Given the description of an element on the screen output the (x, y) to click on. 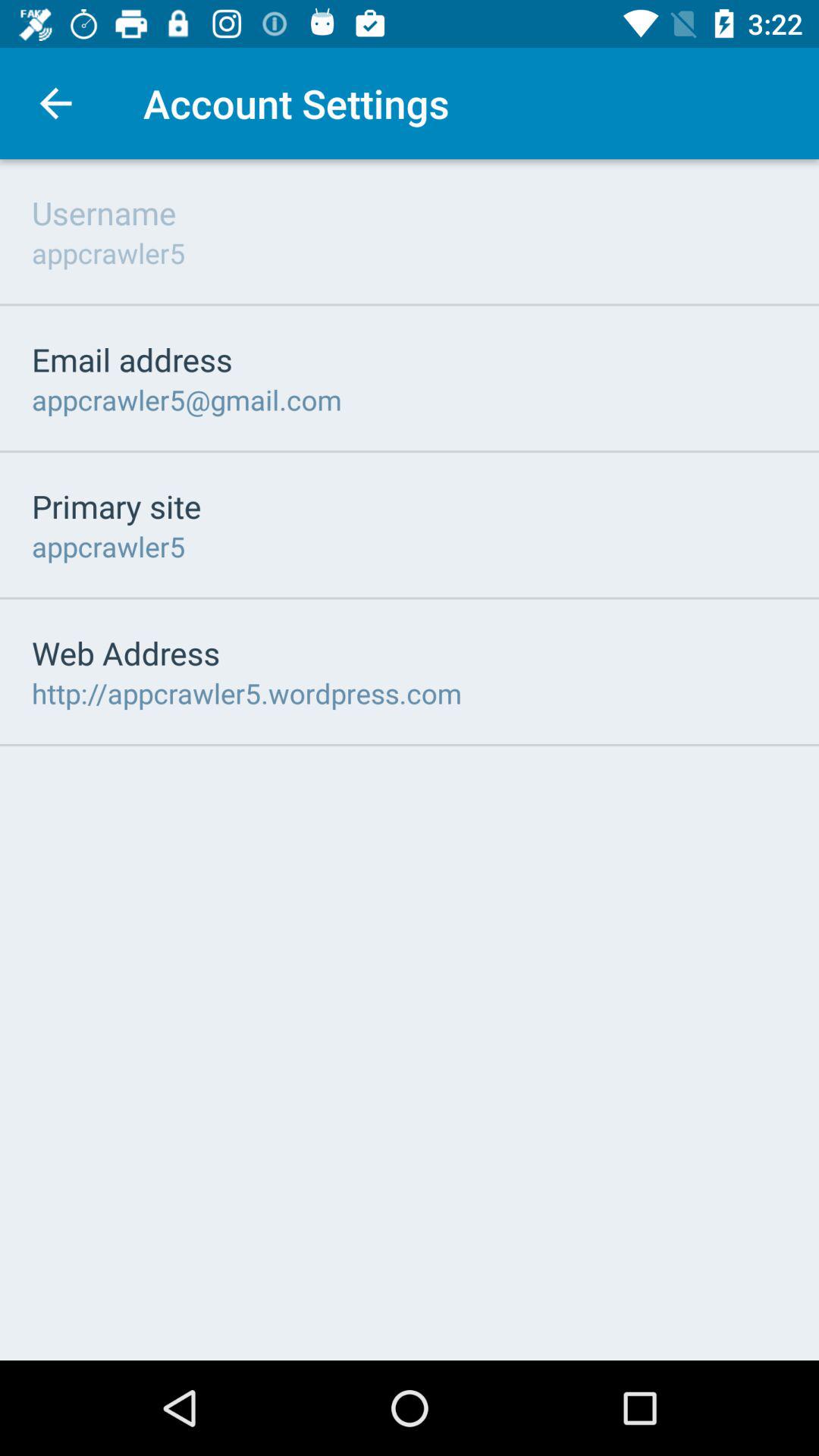
choose http appcrawler5 wordpress icon (246, 693)
